Given the description of an element on the screen output the (x, y) to click on. 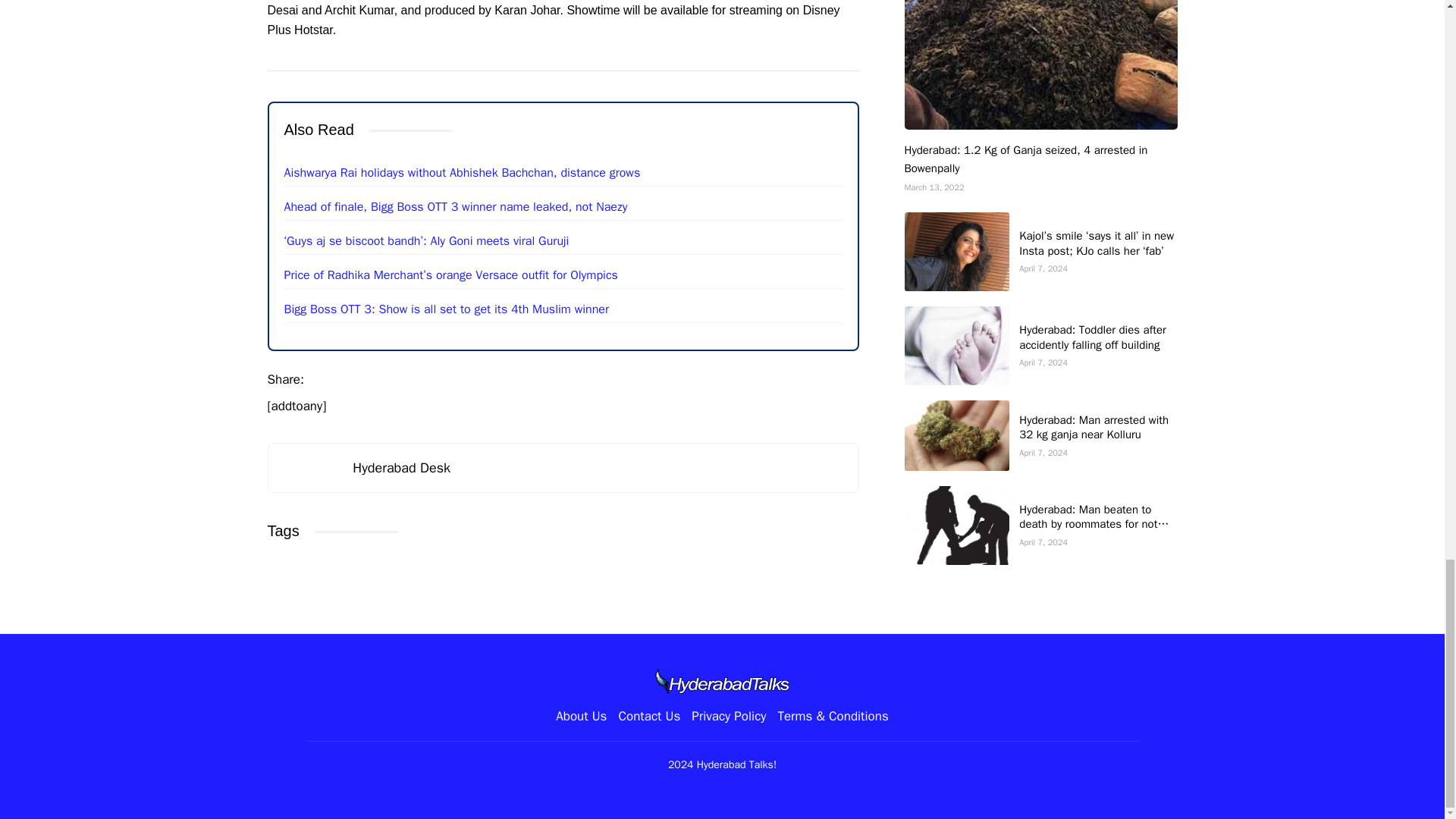
Hyderabad Desk (400, 467)
Privacy Policy (728, 716)
cropped-hyd-talks-white-h65.png (721, 681)
About Us (581, 716)
Contact Us (648, 716)
